Given the description of an element on the screen output the (x, y) to click on. 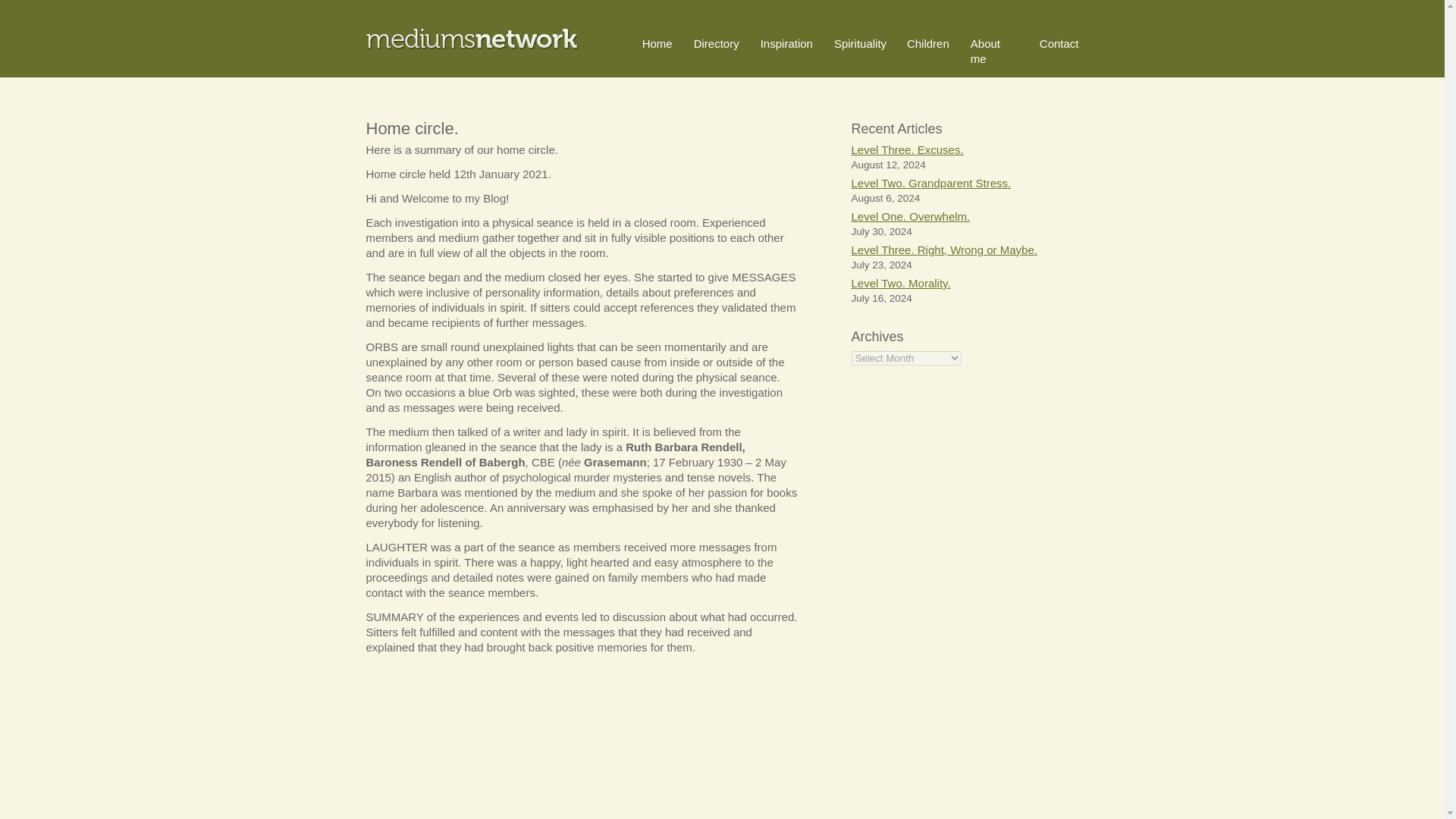
Directory (716, 42)
Home (657, 42)
Level One. Overwhelm. (909, 215)
Mediums Network (472, 37)
Inspiration (786, 42)
Spirituality (860, 42)
Level Three. Excuses. (906, 149)
Level Three. Right, Wrong or Maybe. (943, 249)
About me (985, 50)
Contact (1058, 42)
